Given the description of an element on the screen output the (x, y) to click on. 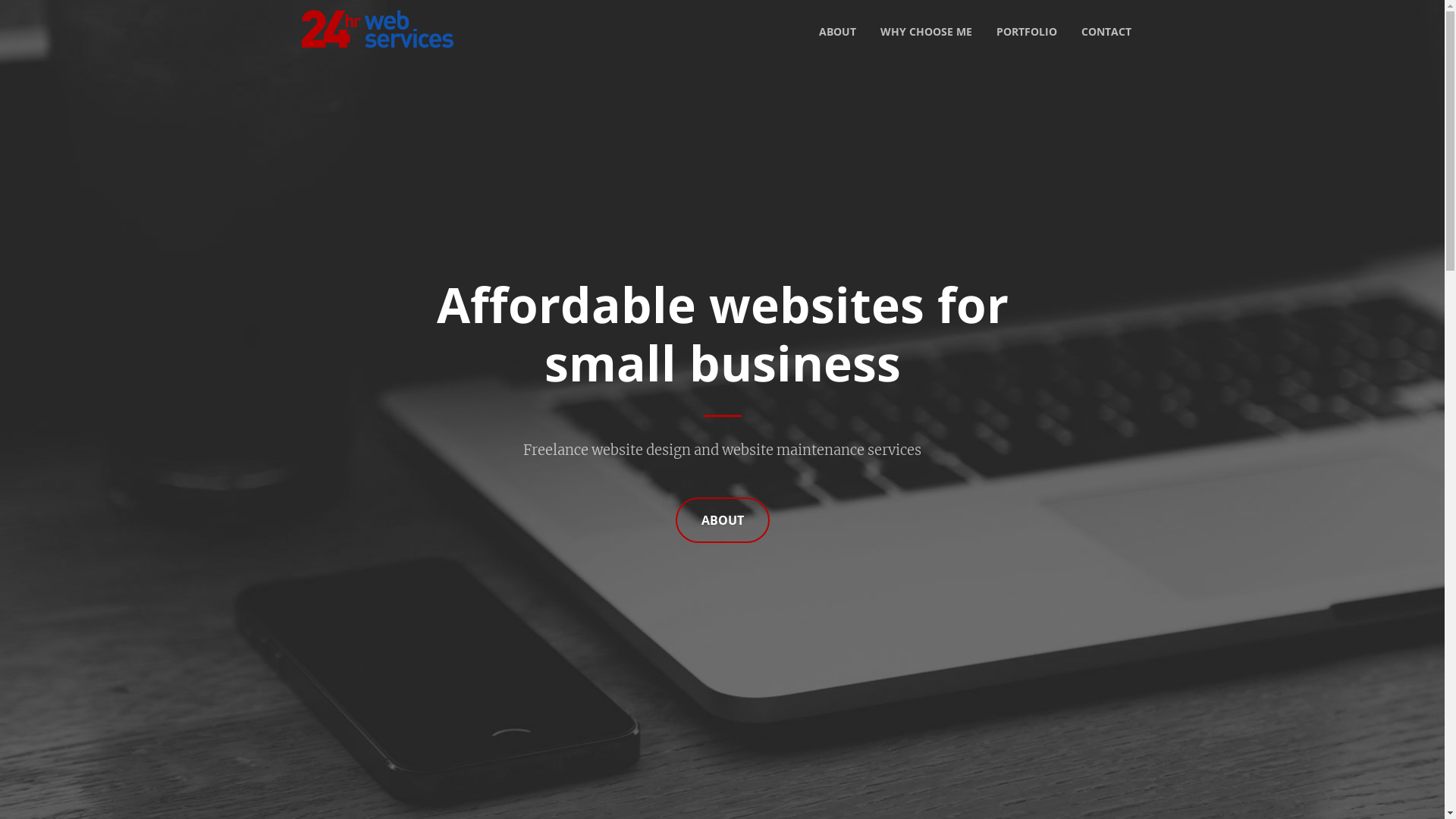
PORTFOLIO Element type: text (1026, 31)
ABOUT Element type: text (721, 519)
ABOUT Element type: text (837, 31)
WHY CHOOSE ME Element type: text (925, 31)
CONTACT Element type: text (1106, 31)
